Given the description of an element on the screen output the (x, y) to click on. 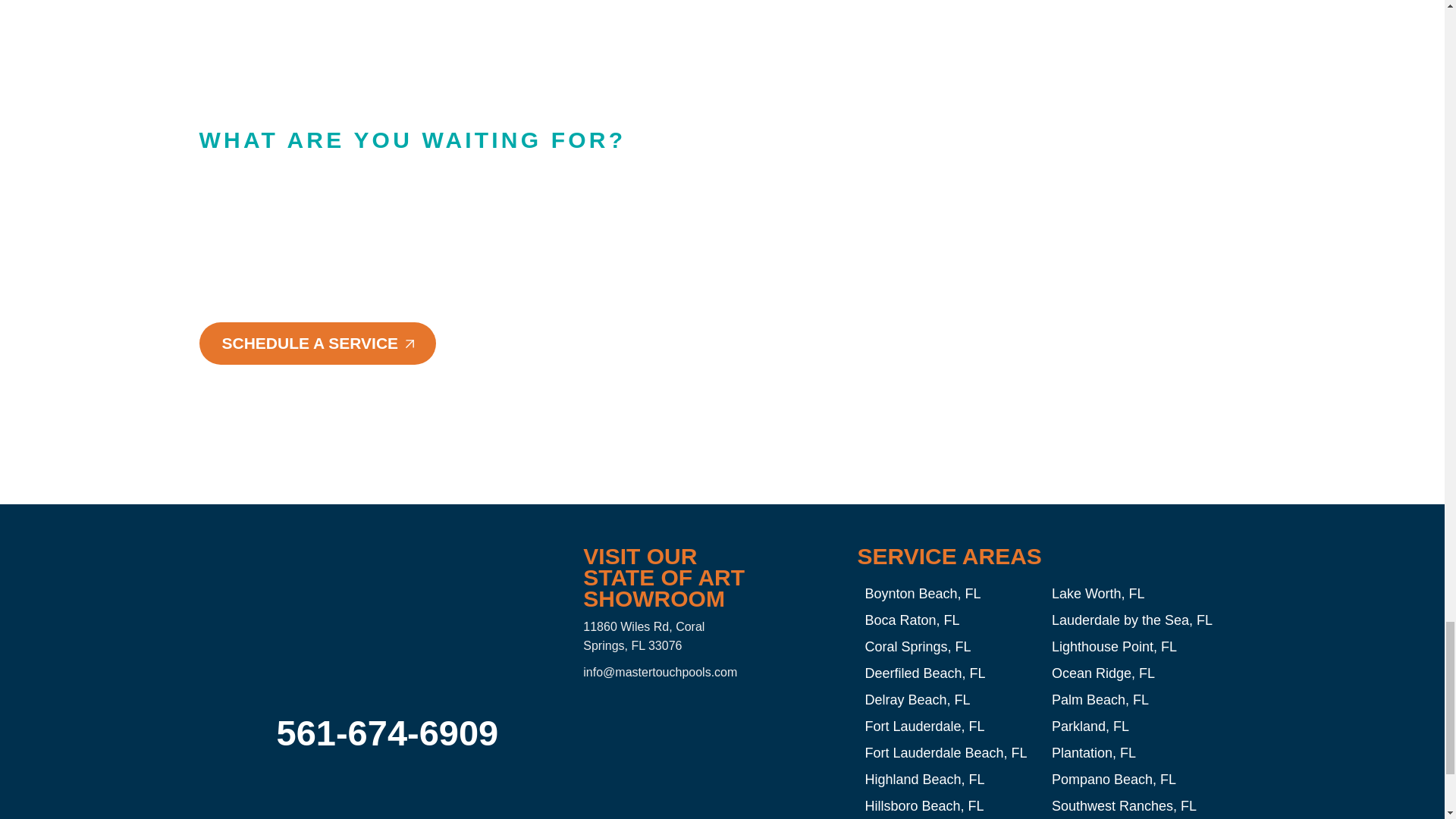
Mastertouch (700, 746)
